Given the description of an element on the screen output the (x, y) to click on. 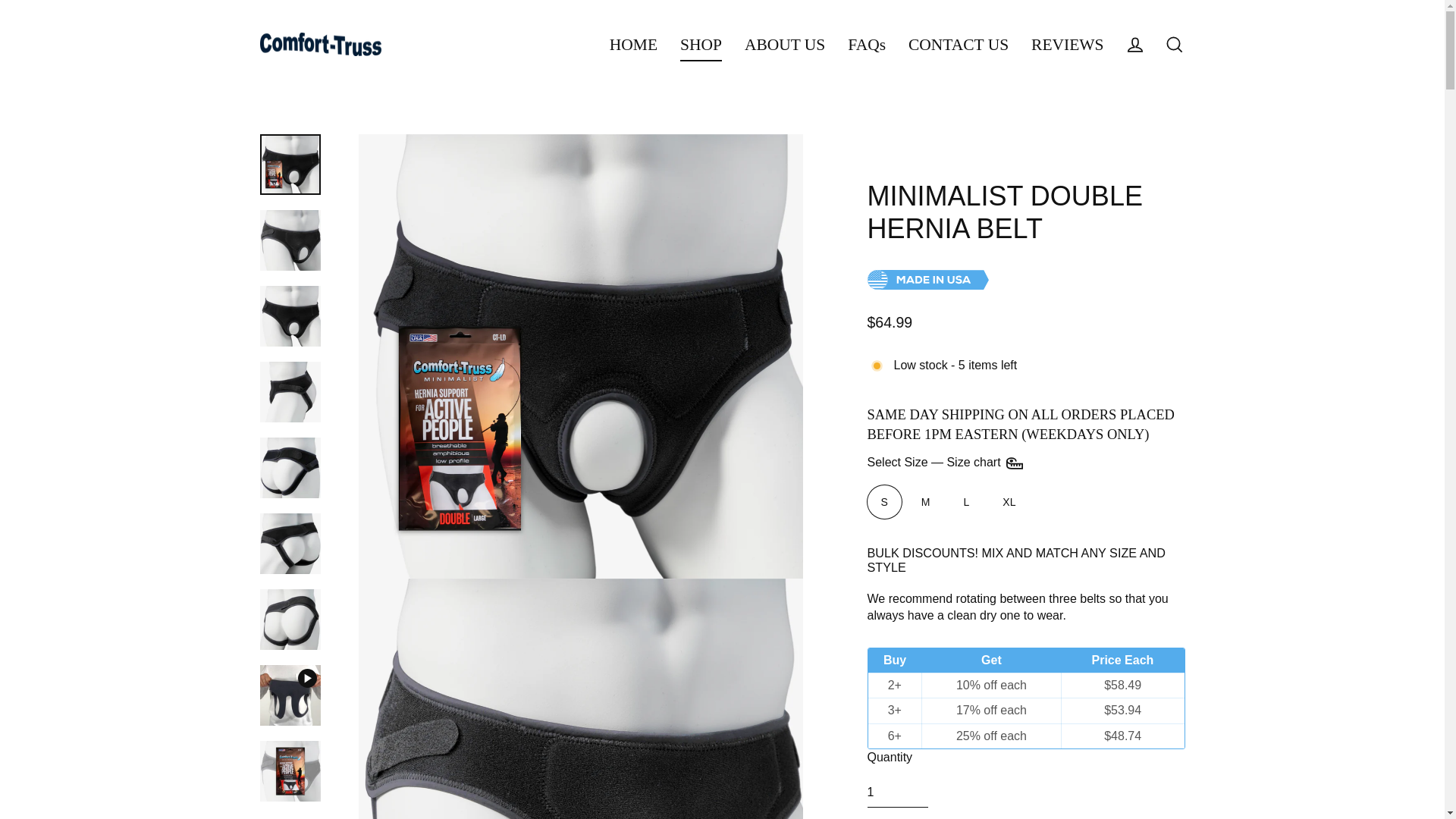
HOME (633, 44)
ABOUT US (784, 44)
SHOP (700, 44)
1 (897, 792)
FAQs (865, 44)
